Given the description of an element on the screen output the (x, y) to click on. 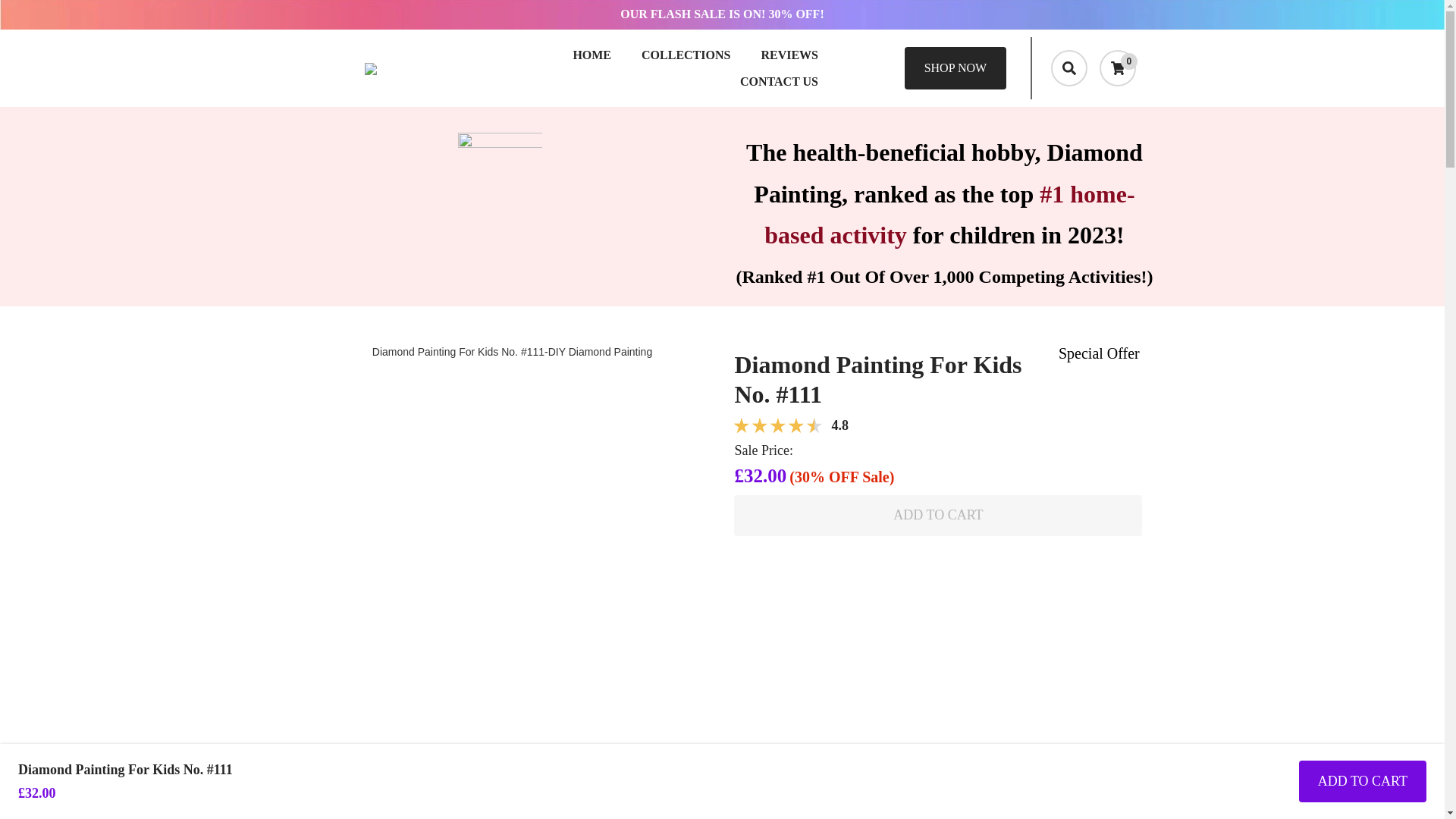
REVIEWS (788, 54)
CONTACT US (778, 81)
Go to the next slide (691, 807)
HOME (591, 54)
REVIEWS (788, 54)
Go to the next slide Next (690, 805)
0 (1117, 67)
HOME (591, 54)
COLLECTIONS (685, 54)
ADD TO CART (1362, 781)
SHOP NOW (955, 67)
ADD TO CART (937, 515)
COLLECTIONS (685, 54)
CONTACT US (778, 81)
Go to the previous slide Preview (320, 805)
